Given the description of an element on the screen output the (x, y) to click on. 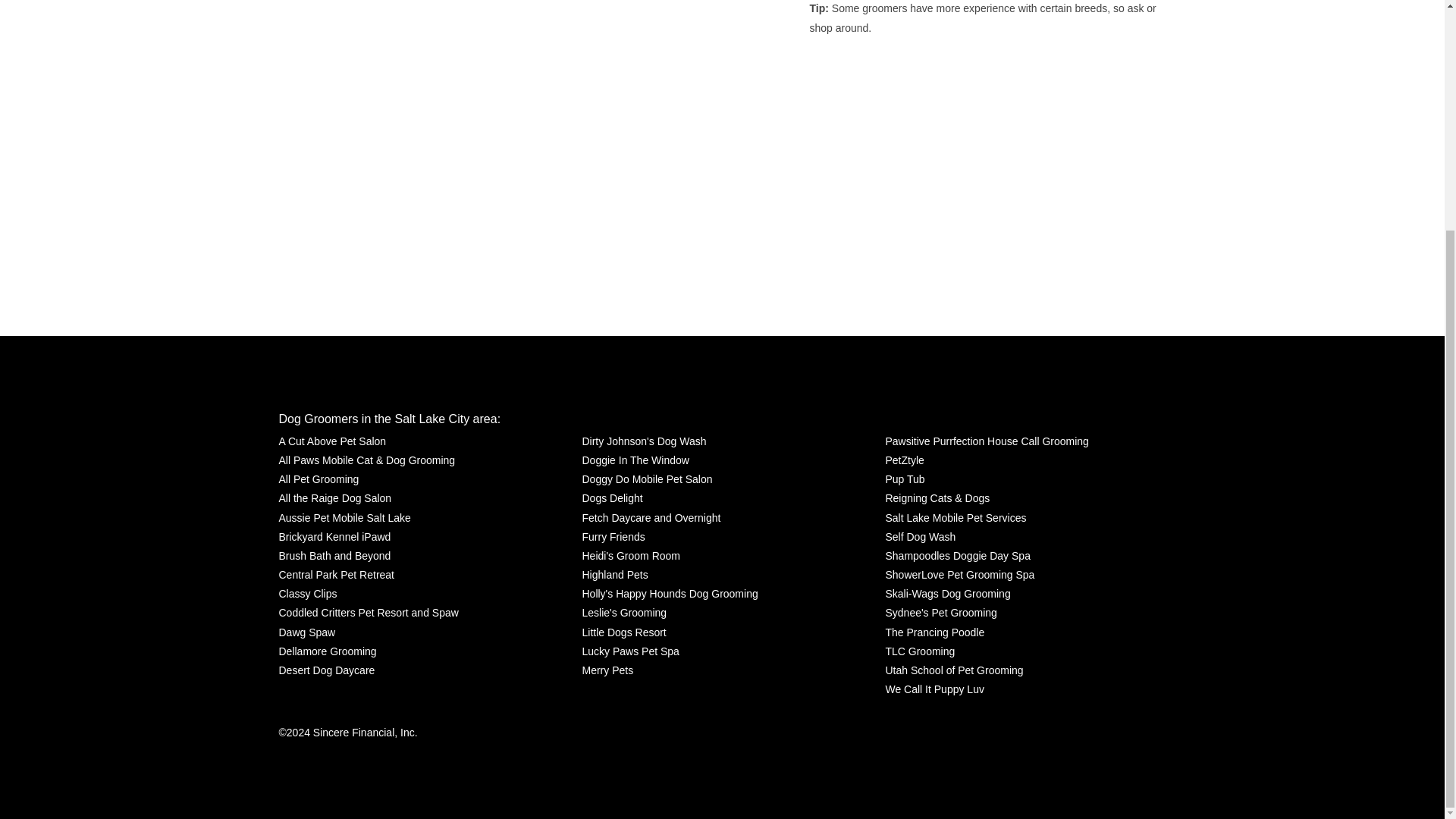
Central Park Pet Retreat (336, 574)
Merry Pets (606, 670)
Desert Dog Daycare (327, 670)
The Prancing Poodle (934, 632)
Holly's Happy Hounds Dog Grooming (668, 593)
Little Dogs Resort (622, 632)
Heidi's Groom Room (629, 556)
Dogs Delight (611, 497)
Brickyard Kennel iPawd (335, 537)
All Pet Grooming (319, 479)
Highland Pets (613, 574)
Dawg Spaw (307, 632)
Salt Lake Mobile Pet Services (955, 517)
Pup Tub (904, 479)
Skali-Wags Dog Grooming (947, 593)
